Given the description of an element on the screen output the (x, y) to click on. 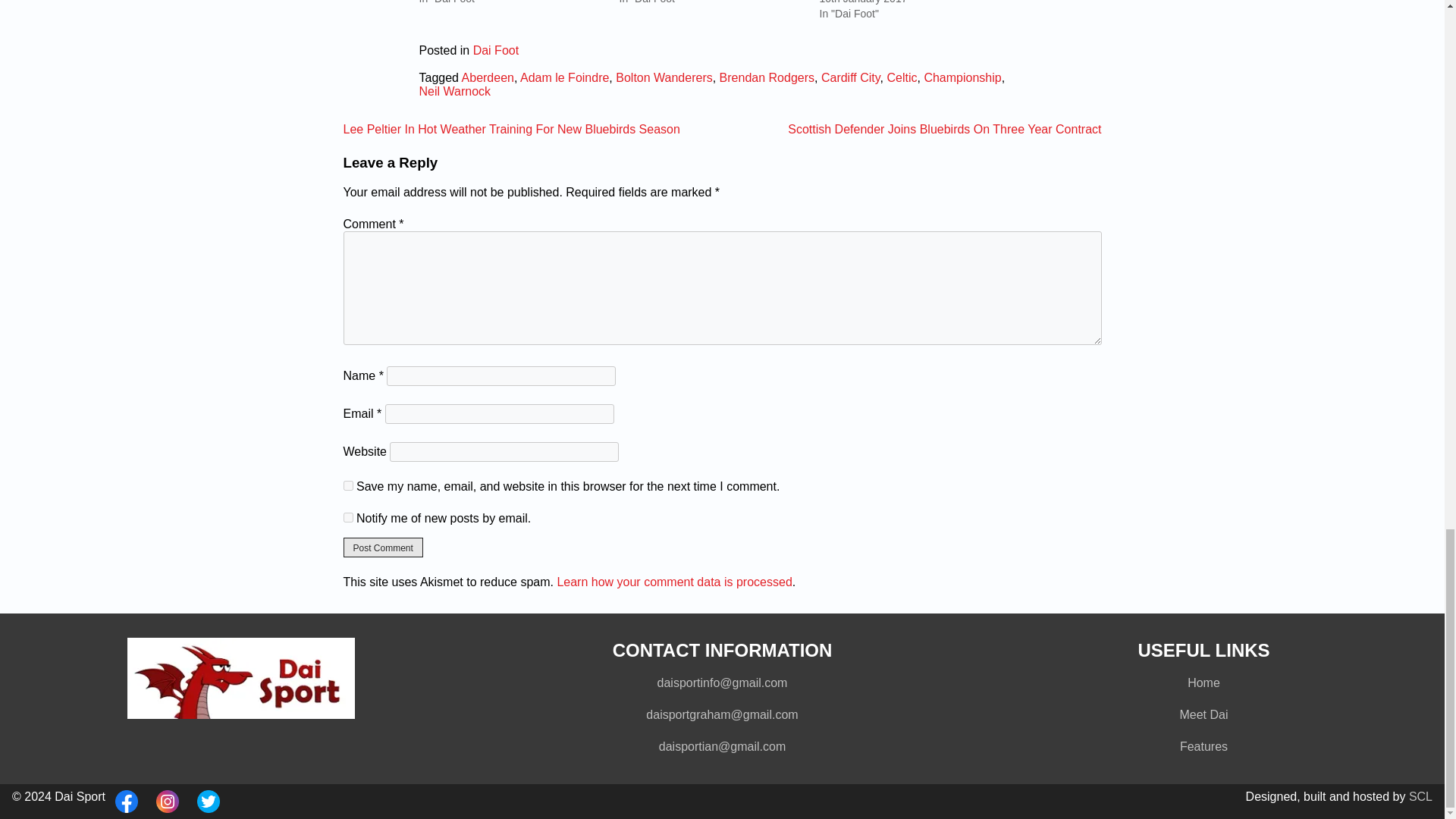
Post Comment (382, 547)
yes (347, 485)
subscribe (347, 517)
